Given the description of an element on the screen output the (x, y) to click on. 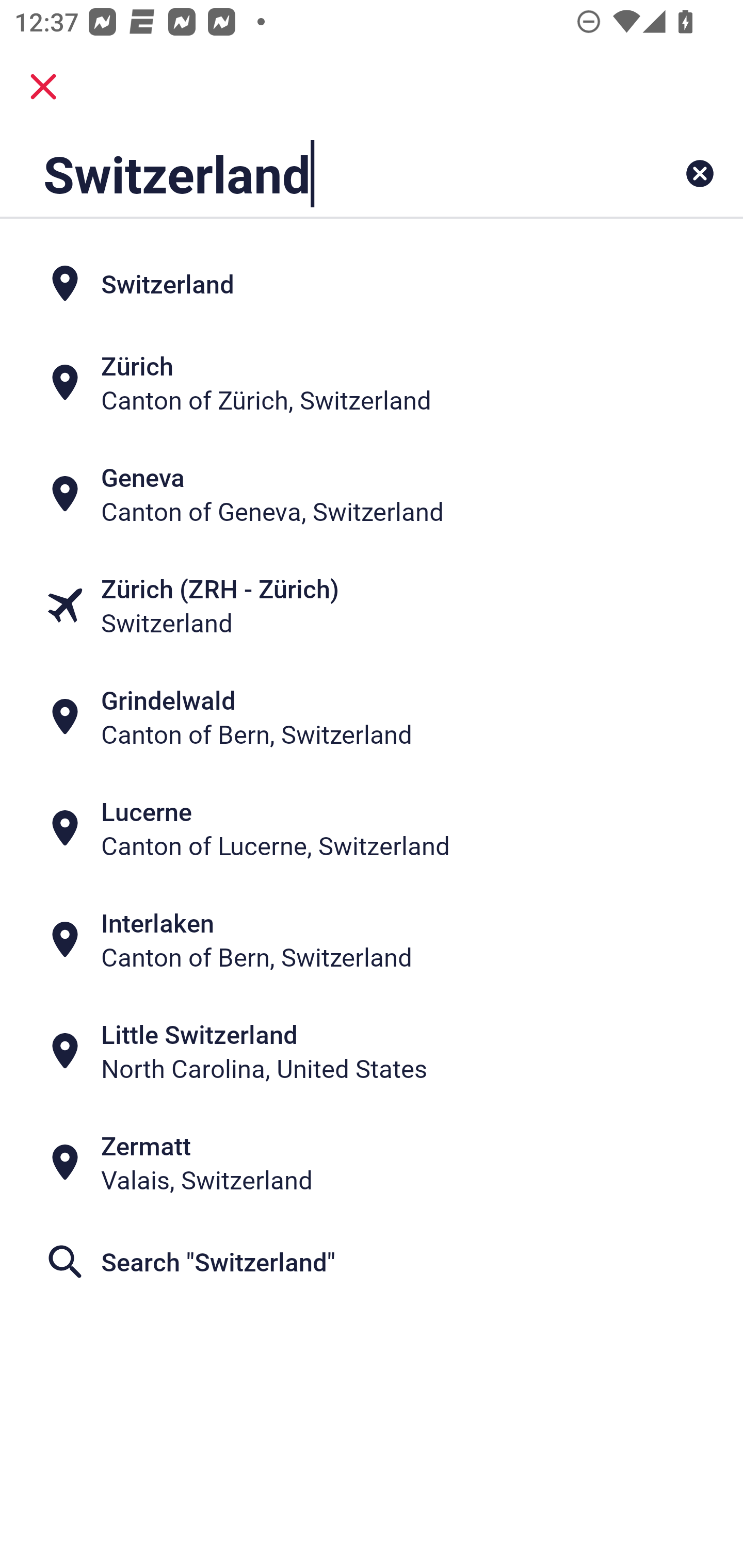
close. (43, 86)
Clear (699, 173)
Switzerland (306, 173)
Switzerland (371, 283)
Zürich Canton of Zürich, Switzerland (371, 383)
Geneva Canton of Geneva, Switzerland (371, 494)
Zürich (ZRH - Zürich) Switzerland (371, 605)
Grindelwald Canton of Bern, Switzerland (371, 717)
Lucerne Canton of Lucerne, Switzerland (371, 828)
Interlaken Canton of Bern, Switzerland (371, 939)
Little Switzerland North Carolina, United States (371, 1051)
Zermatt Valais, Switzerland (371, 1162)
Search "Switzerland" (371, 1261)
